Given the description of an element on the screen output the (x, y) to click on. 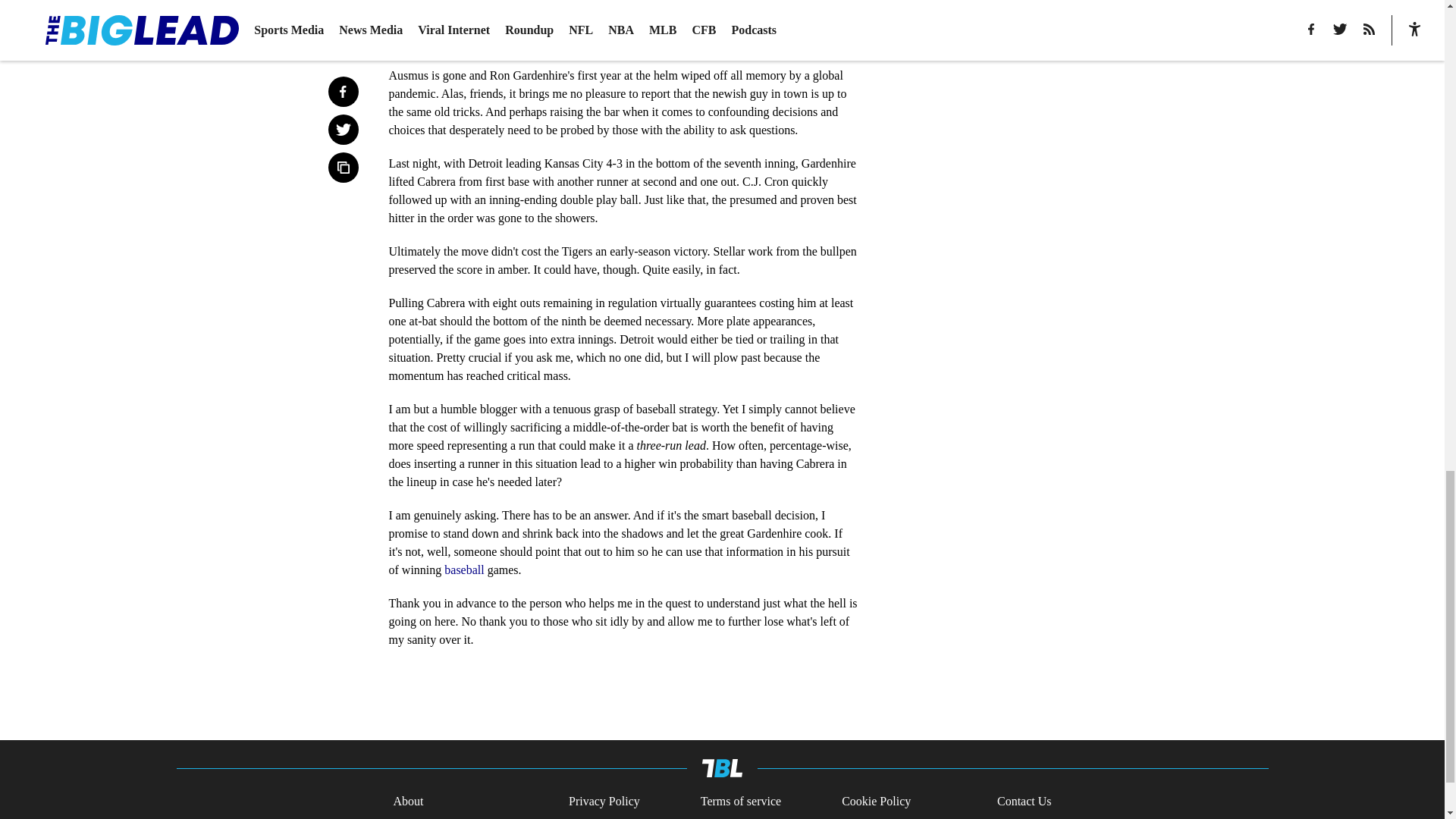
Terms of service (740, 801)
Privacy Policy (604, 801)
Contact Us (1024, 801)
About (408, 801)
baseball (463, 569)
Cookie Policy (876, 801)
